Given the description of an element on the screen output the (x, y) to click on. 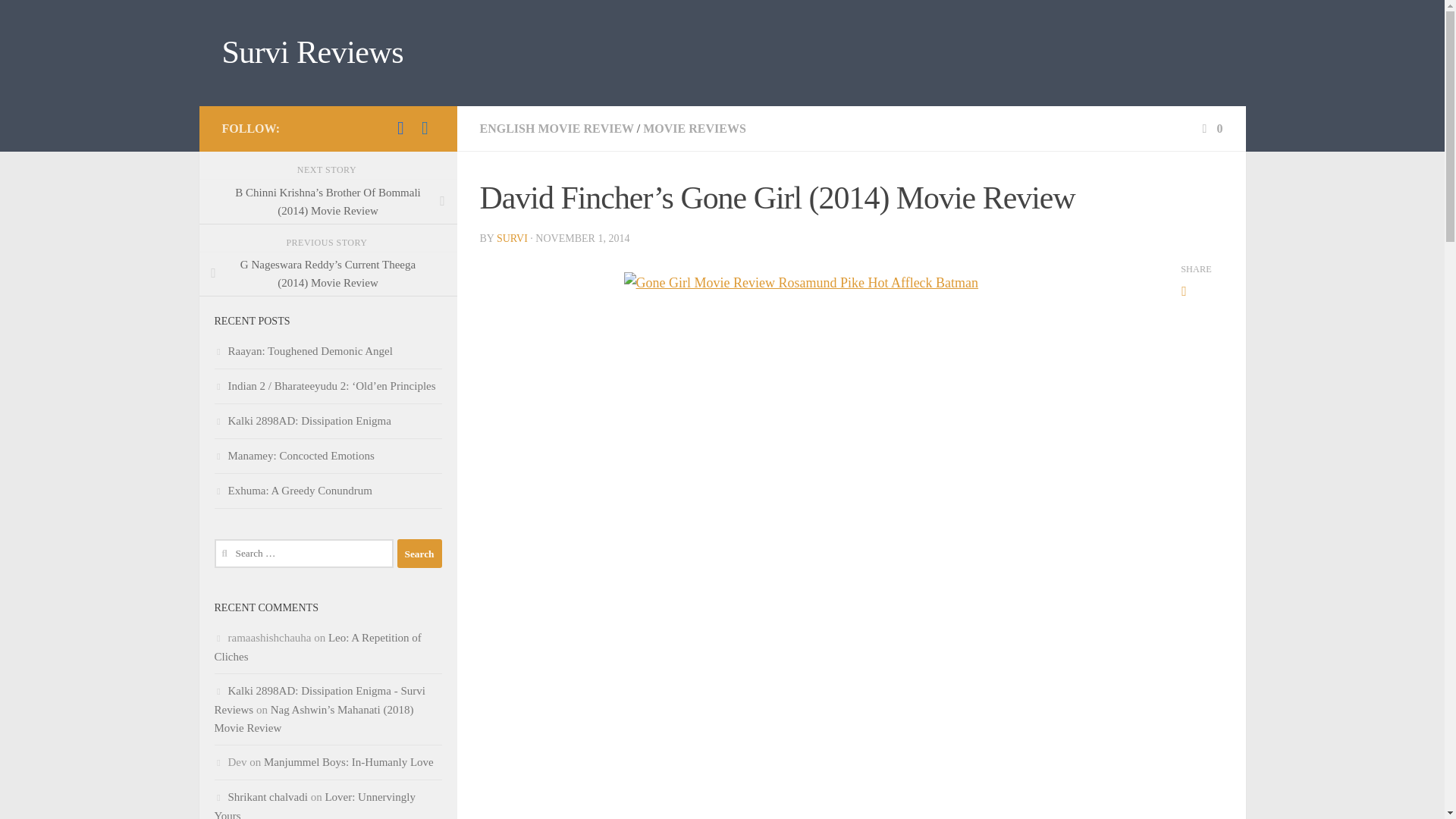
Search (419, 553)
Posts by survi (511, 238)
Manamey: Concocted Emotions (294, 455)
0 (1210, 128)
Exhuma: A Greedy Conundrum (292, 490)
Kalki 2898AD: Dissipation Enigma - Survi Reviews (319, 699)
Kalki 2898AD: Dissipation Enigma (302, 420)
Follow me on Facebook (423, 127)
SURVI (511, 238)
Search (419, 553)
